Given the description of an element on the screen output the (x, y) to click on. 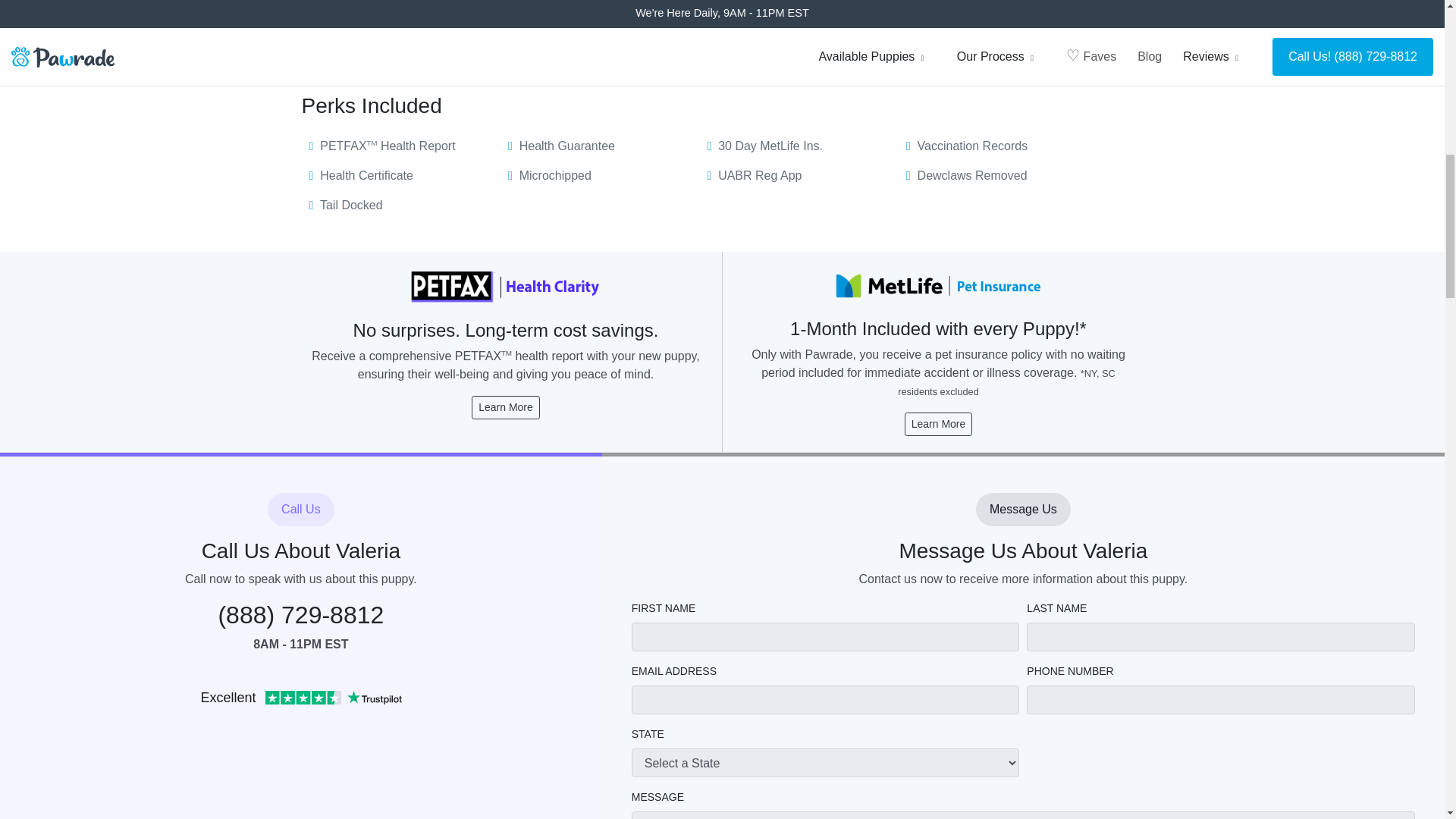
Customer reviews powered by Trustpilot (301, 699)
